Given the description of an element on the screen output the (x, y) to click on. 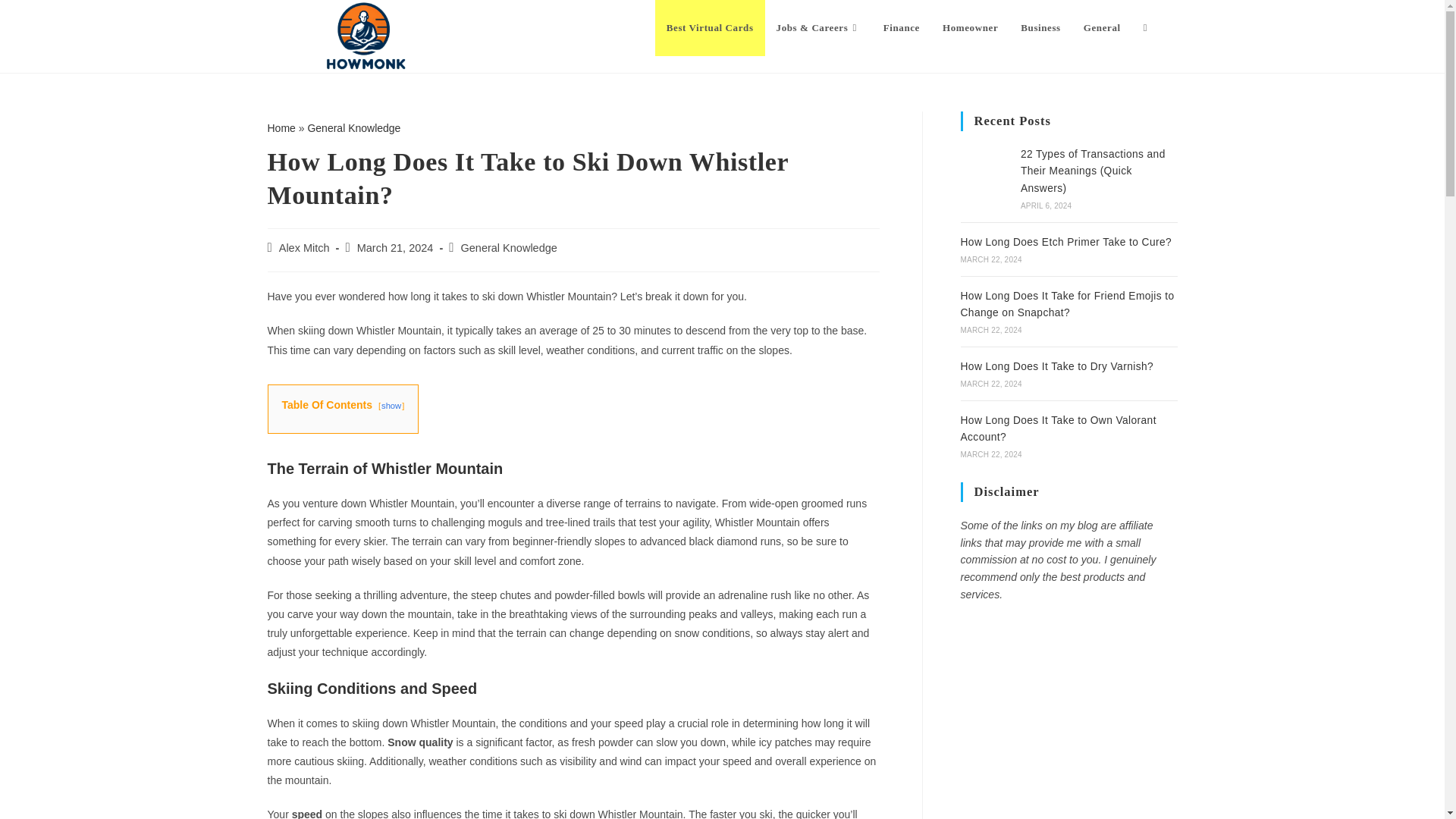
show (391, 405)
Finance (901, 28)
General (1101, 28)
General Knowledge (353, 128)
Home (280, 128)
General Knowledge (353, 128)
General Knowledge (509, 247)
Homeowner (970, 28)
Best Virtual Cards (710, 28)
Business (1040, 28)
